Given the description of an element on the screen output the (x, y) to click on. 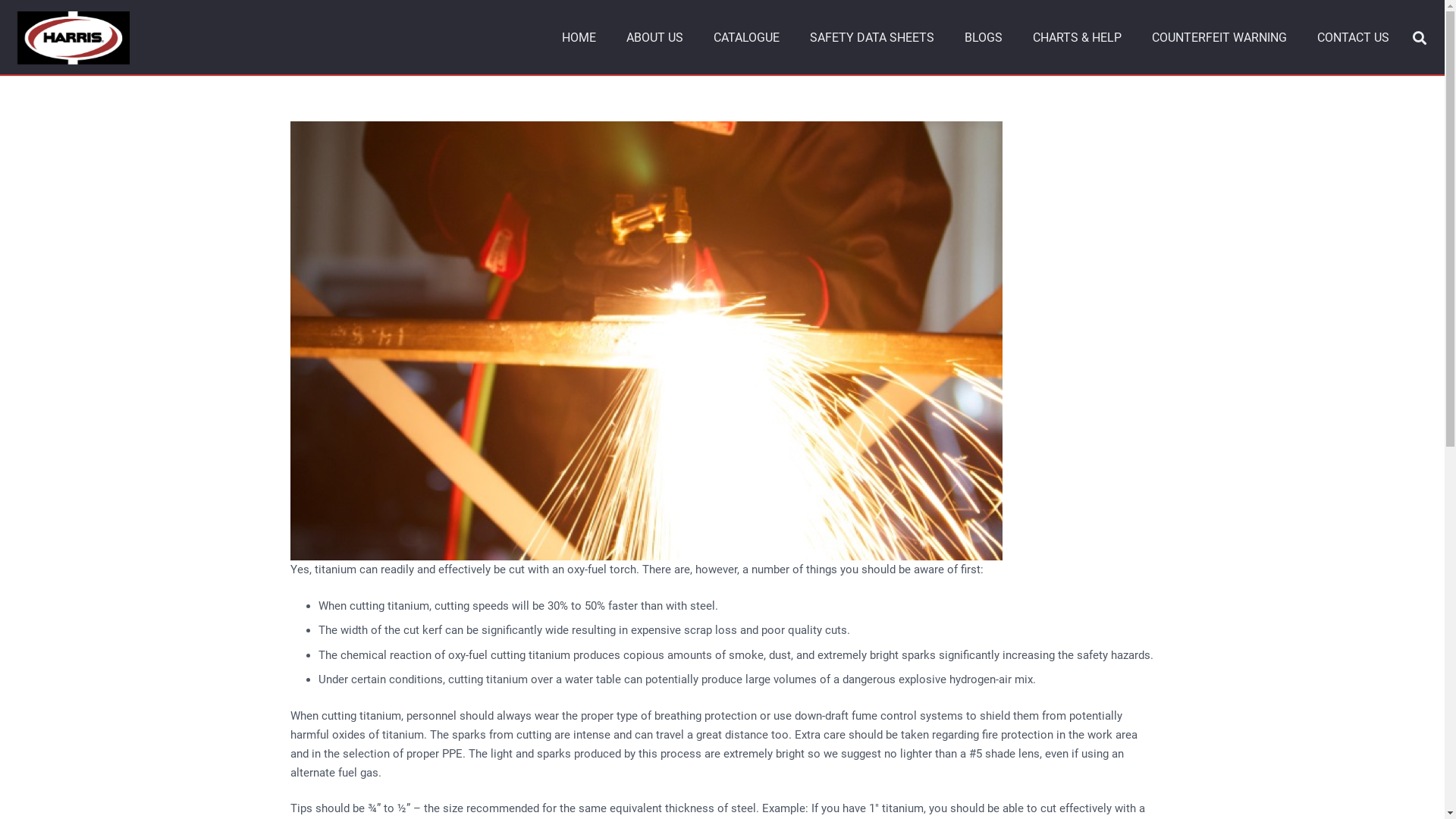
HOME Element type: text (578, 37)
BLOGS Element type: text (983, 37)
CONTACT US Element type: text (1353, 37)
CATALOGUE Element type: text (746, 37)
CHARTS & HELP Element type: text (1076, 37)
ABOUT US Element type: text (654, 37)
COUNTERFEIT WARNING Element type: text (1219, 37)
SAFETY DATA SHEETS Element type: text (871, 37)
